Given the description of an element on the screen output the (x, y) to click on. 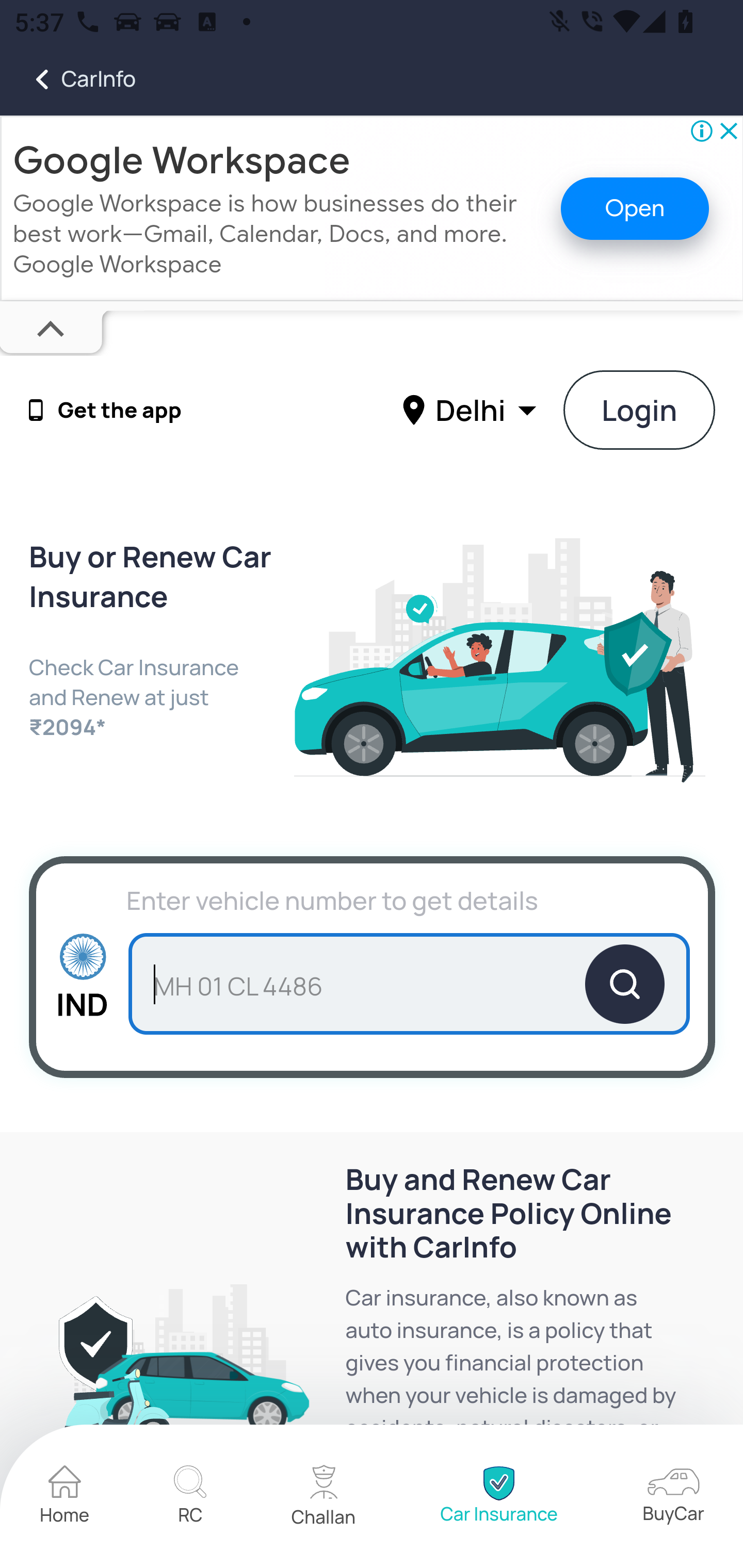
CarInfo (67, 79)
Google Workspace (182, 160)
Open (634, 208)
Login (639, 409)
Delhi (471, 408)
Get the app (119, 410)
search (408, 984)
home Challan home Challan (323, 1496)
home Home home Home (64, 1496)
home RC home RC (190, 1496)
home Car Insurance home Car Insurance (497, 1497)
home BuyCar home BuyCar (672, 1496)
